Given the description of an element on the screen output the (x, y) to click on. 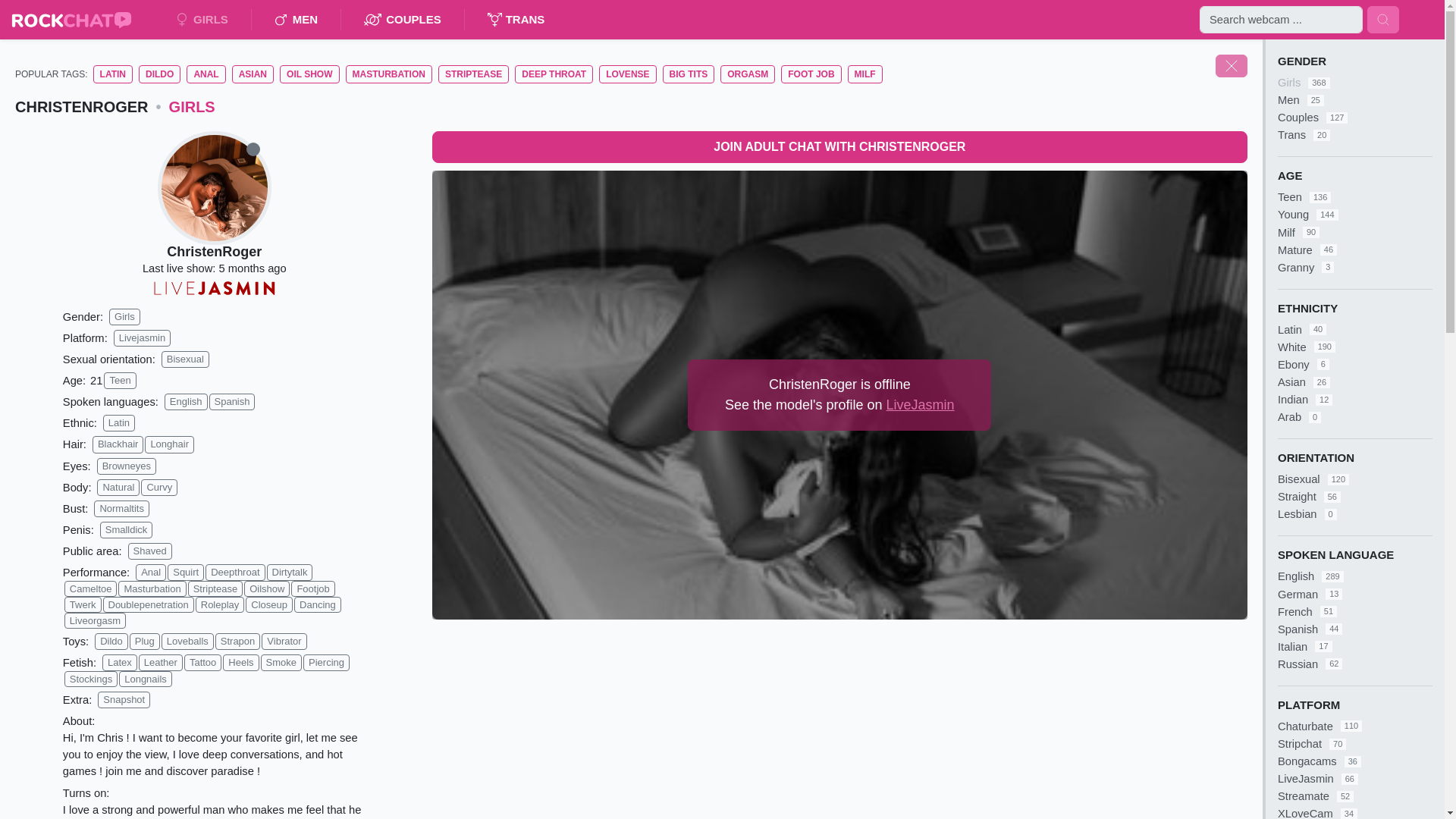
ORGASM (747, 74)
FOOT JOB (810, 74)
Longhair (168, 443)
TRANS (515, 20)
LATIN (112, 74)
Browneyes (126, 466)
ChristenRoger (214, 251)
COUPLES (402, 20)
MILF (864, 74)
MASTURBATION (389, 74)
BIG TITS (688, 74)
Livejasmin (141, 338)
GIRLS (201, 20)
Normaltits (121, 508)
DEEP THROAT (553, 74)
